Given the description of an element on the screen output the (x, y) to click on. 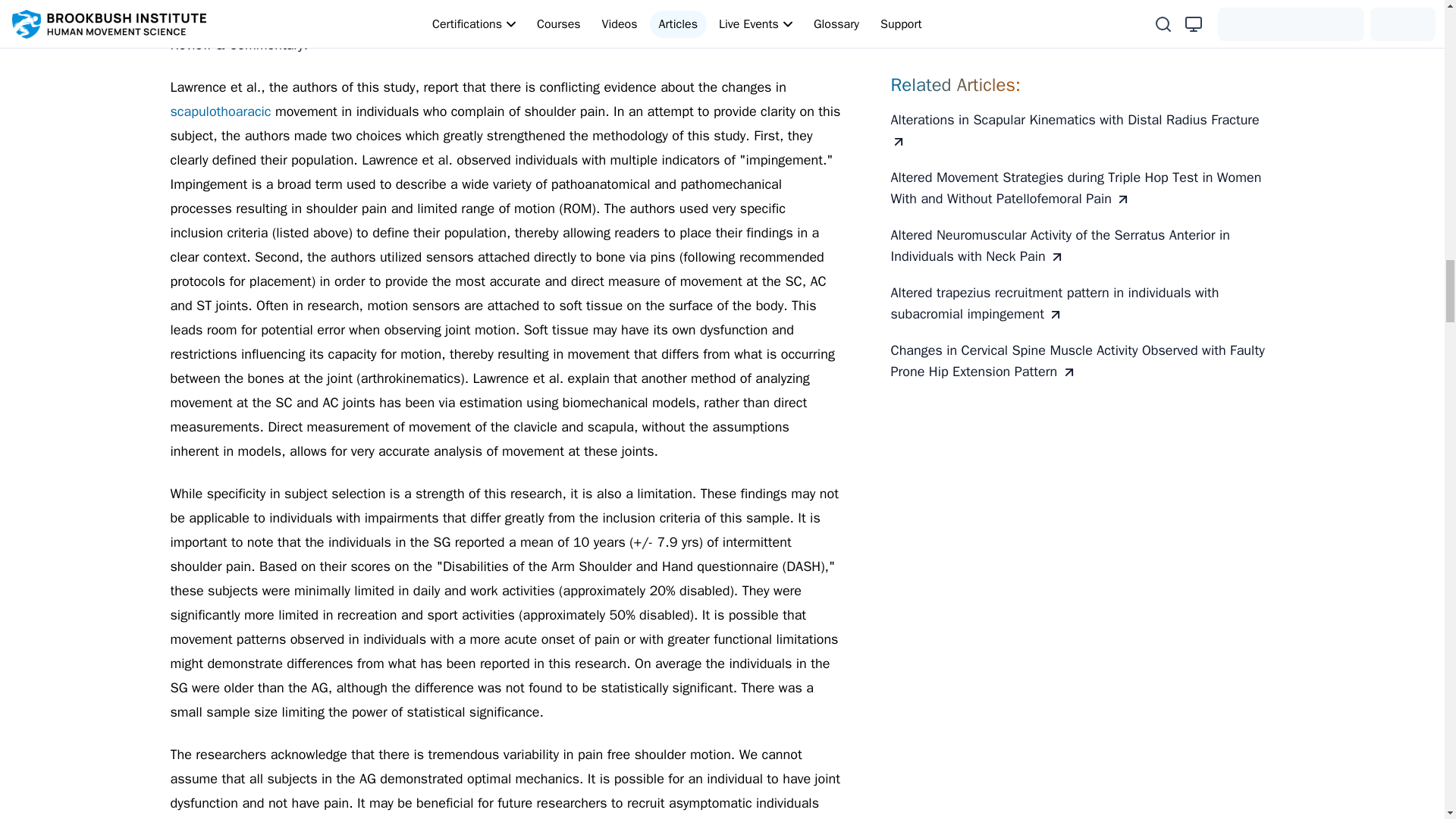
scapulothoaracic (222, 111)
